Given the description of an element on the screen output the (x, y) to click on. 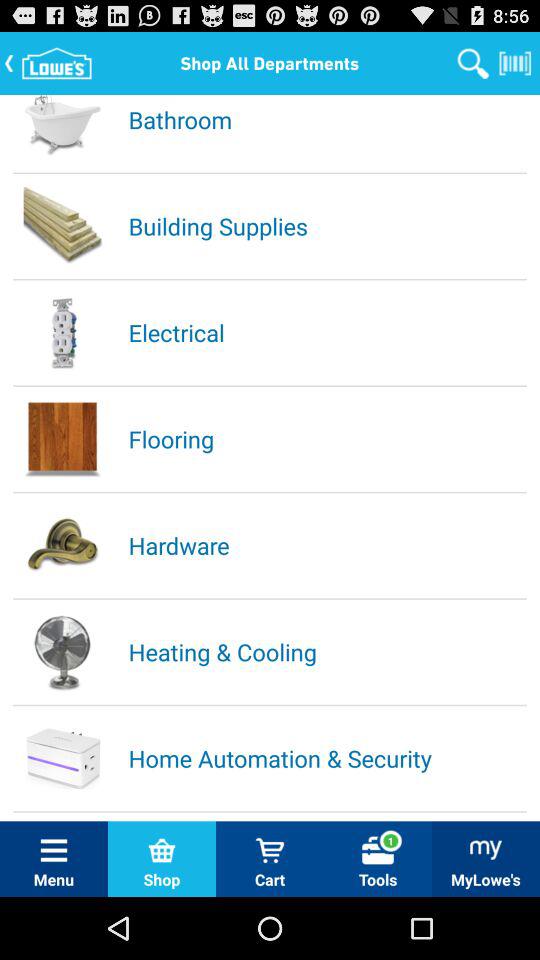
launch app below the heating & cooling app (326, 758)
